Given the description of an element on the screen output the (x, y) to click on. 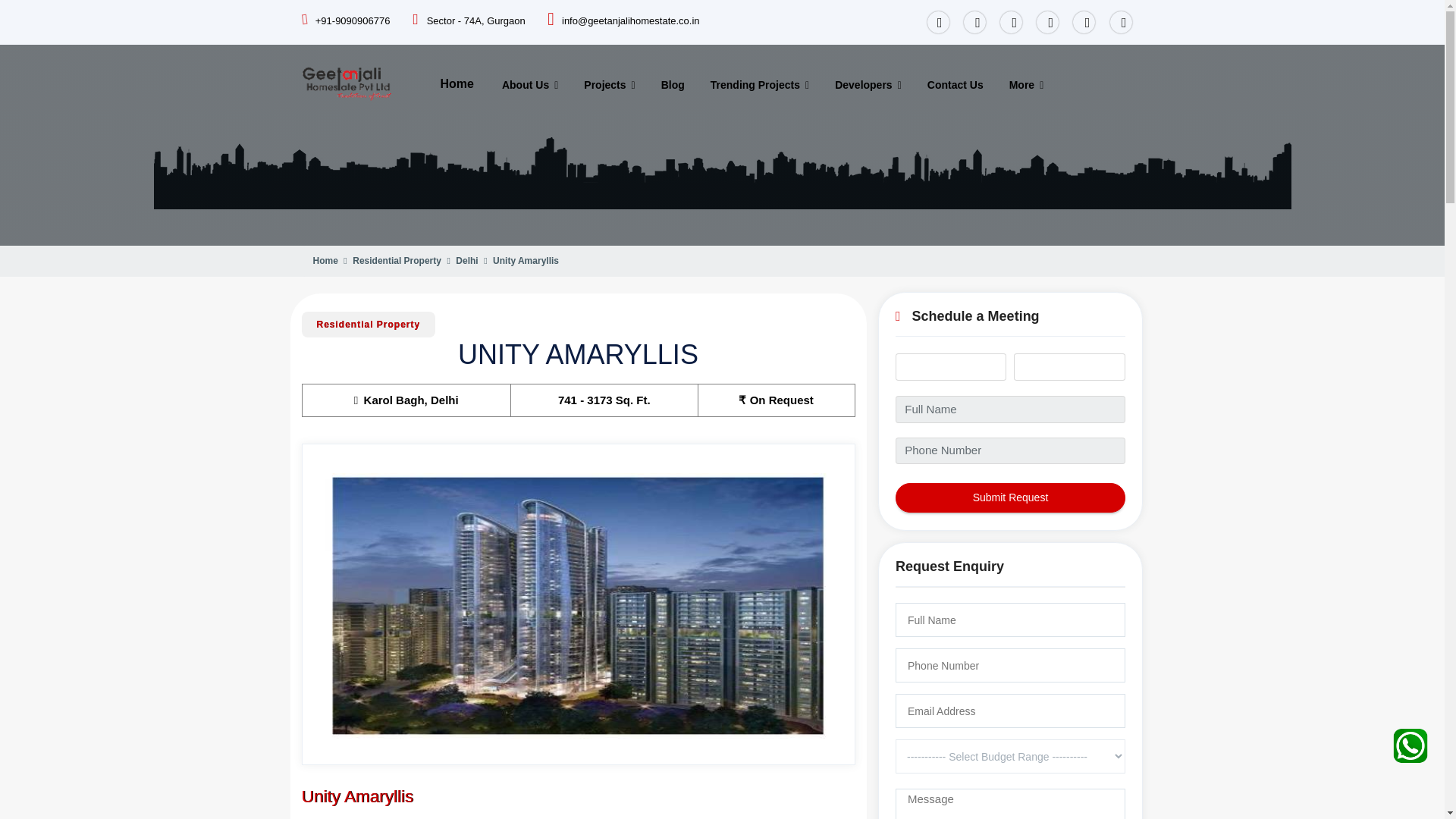
Blog (673, 84)
WhatsApp To Geetanjali Homestate (1410, 742)
Home (456, 83)
Submit Request (1010, 497)
Projects (609, 84)
About Us (530, 84)
